Given the description of an element on the screen output the (x, y) to click on. 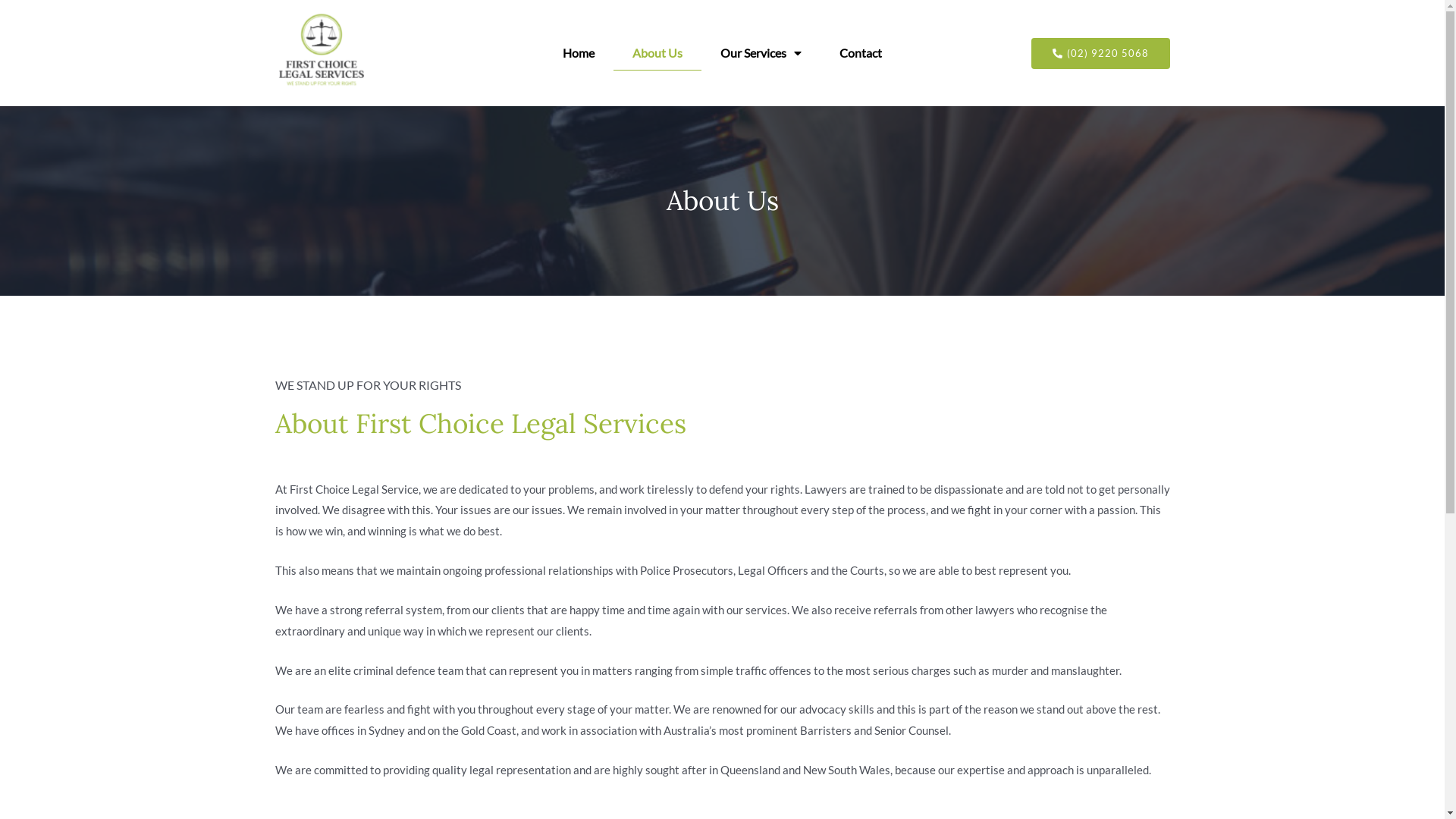
Our Services Element type: text (760, 52)
Home Element type: text (578, 52)
(02) 9220 5068 Element type: text (1100, 53)
Contact Element type: text (860, 52)
About Us Element type: text (657, 52)
